Given the description of an element on the screen output the (x, y) to click on. 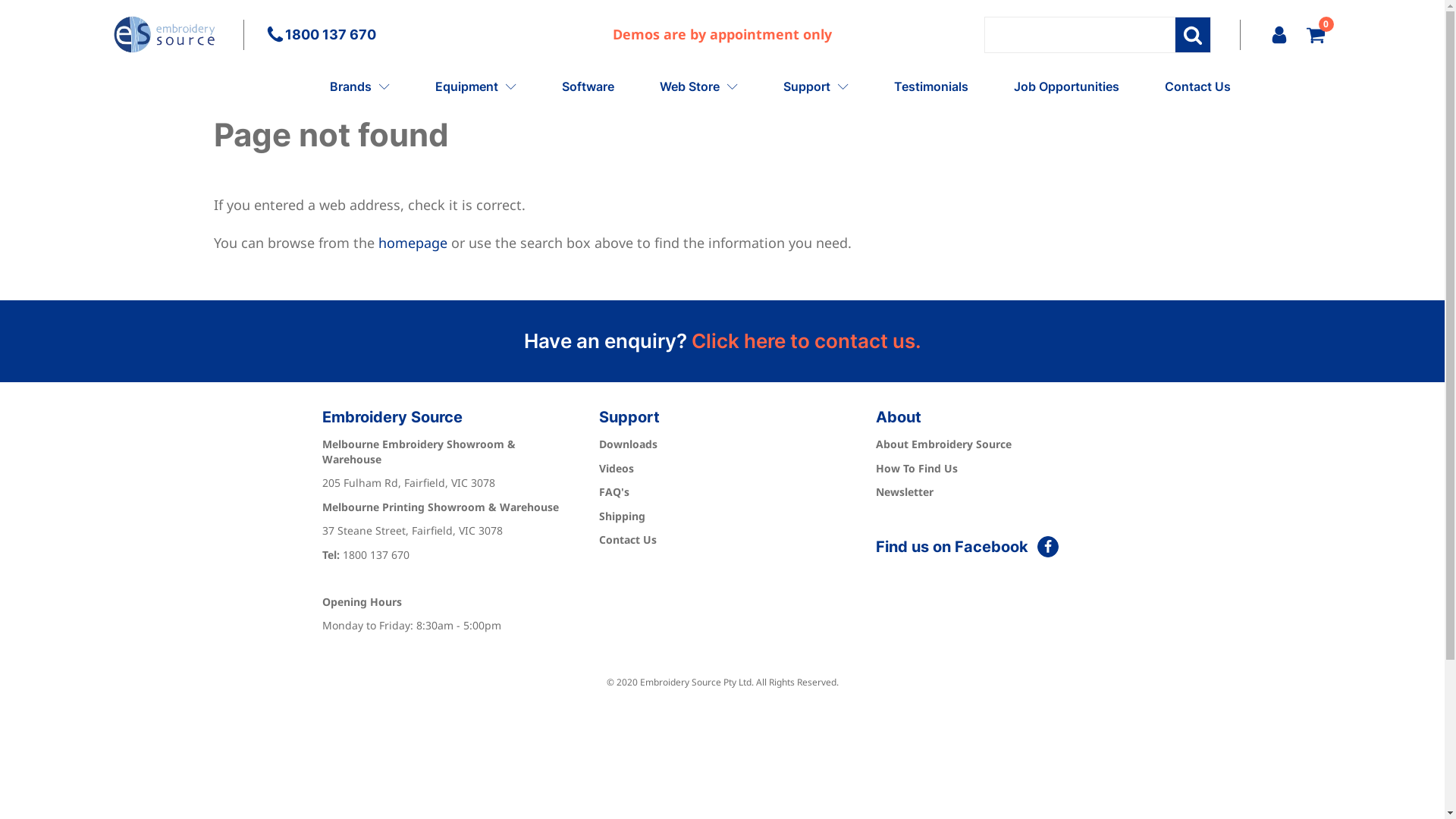
Web Store Element type: text (698, 86)
Click here to contact us. Element type: text (806, 340)
Search Element type: text (1191, 34)
Brands Element type: text (358, 86)
Equipment Element type: text (475, 86)
How To Find Us Element type: text (916, 468)
Contact Us Element type: text (627, 539)
Support Element type: text (814, 86)
Find us on Facebook Element type: text (966, 546)
Newsletter Element type: text (904, 491)
Downloads Element type: text (628, 443)
Shipping Element type: text (622, 516)
Videos Element type: text (616, 468)
Testimonials Element type: text (930, 86)
Job Opportunities Element type: text (1065, 86)
Software Element type: text (587, 86)
FAQ's Element type: text (614, 491)
1800 137 670 Element type: text (362, 34)
Contact Us Element type: text (1197, 86)
0 Element type: text (1314, 34)
About Embroidery Source Element type: text (943, 443)
homepage Element type: text (411, 242)
